Given the description of an element on the screen output the (x, y) to click on. 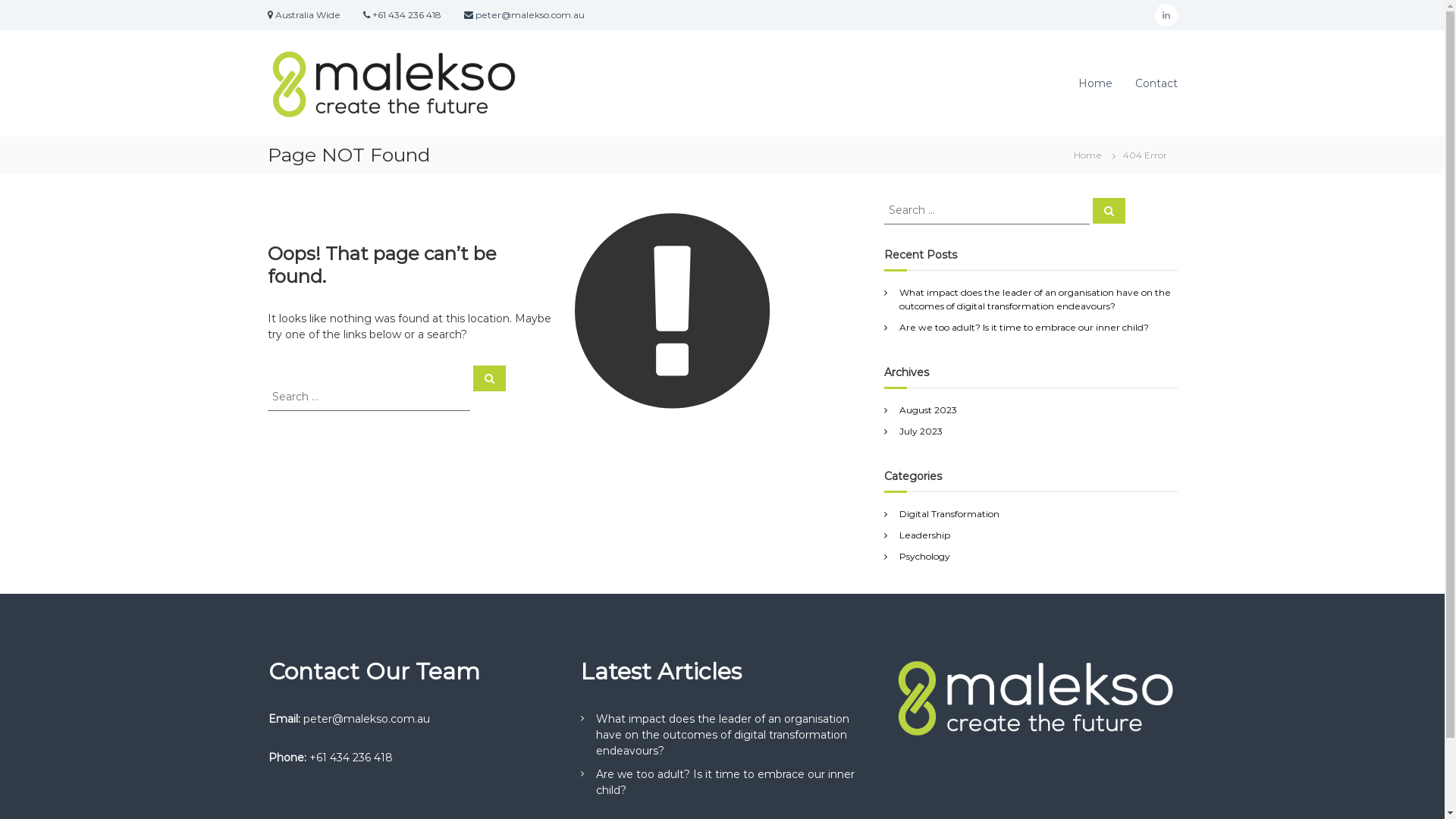
Home Element type: text (1095, 82)
+61 434 236 418 Element type: text (350, 757)
Search Element type: text (1108, 209)
linkedin Element type: text (1165, 14)
Are we too adult? Is it time to embrace our inner child? Element type: text (1023, 326)
Leadership Element type: text (924, 534)
July 2023 Element type: text (920, 430)
peter@malekso.com.au Element type: text (366, 717)
Home Element type: text (1087, 154)
Contact Element type: text (1155, 82)
Psychology Element type: text (924, 555)
Are we too adult? Is it time to embrace our inner child? Element type: text (725, 782)
Search Element type: text (489, 378)
Digital Transformation Element type: text (949, 513)
August 2023 Element type: text (928, 408)
